Given the description of an element on the screen output the (x, y) to click on. 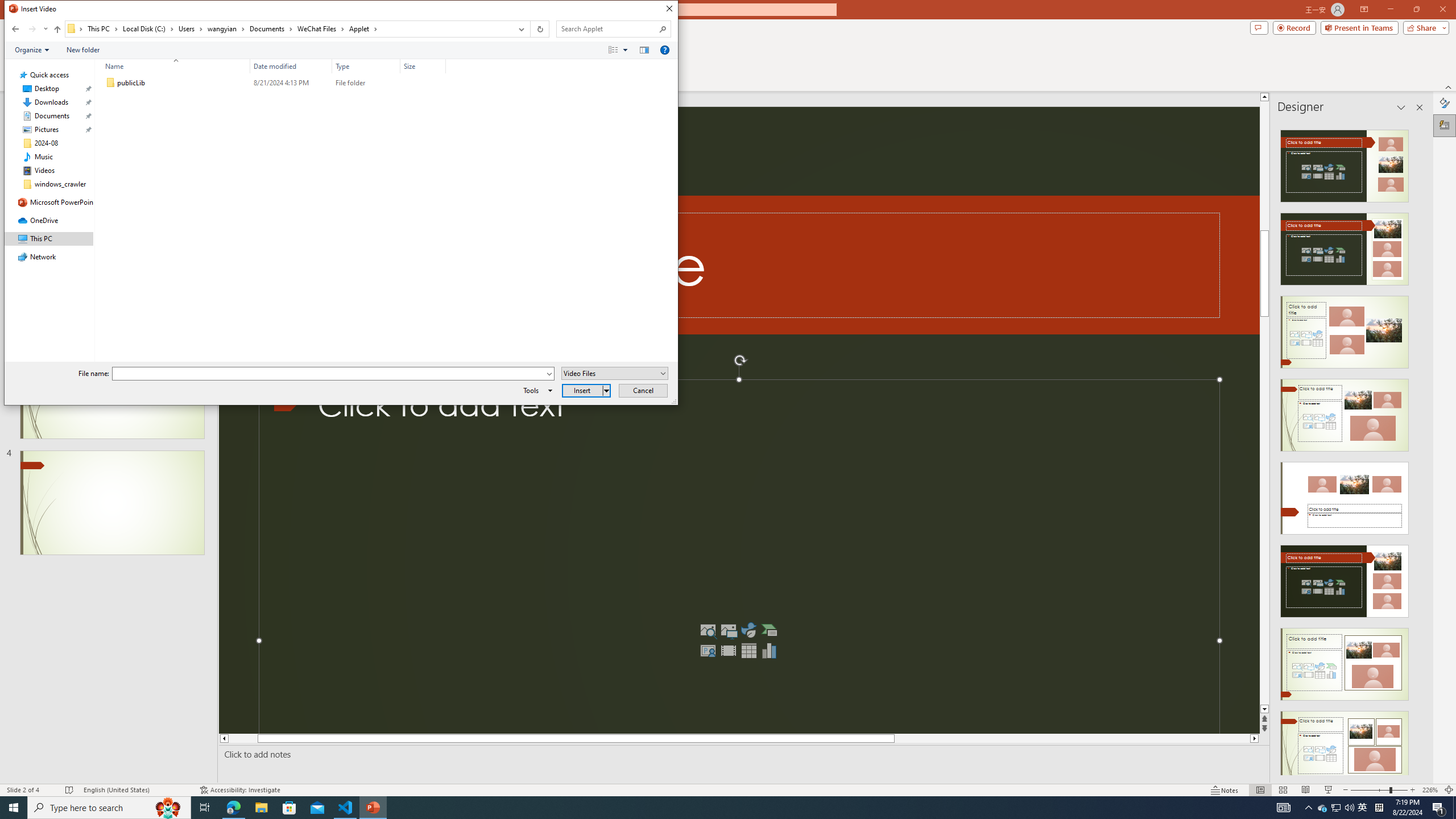
File name: (329, 373)
Refresh "Applet" (F5) (538, 28)
Class: NetUIScrollBar (1418, 447)
Date modified (290, 65)
Insert Video (728, 650)
